Given the description of an element on the screen output the (x, y) to click on. 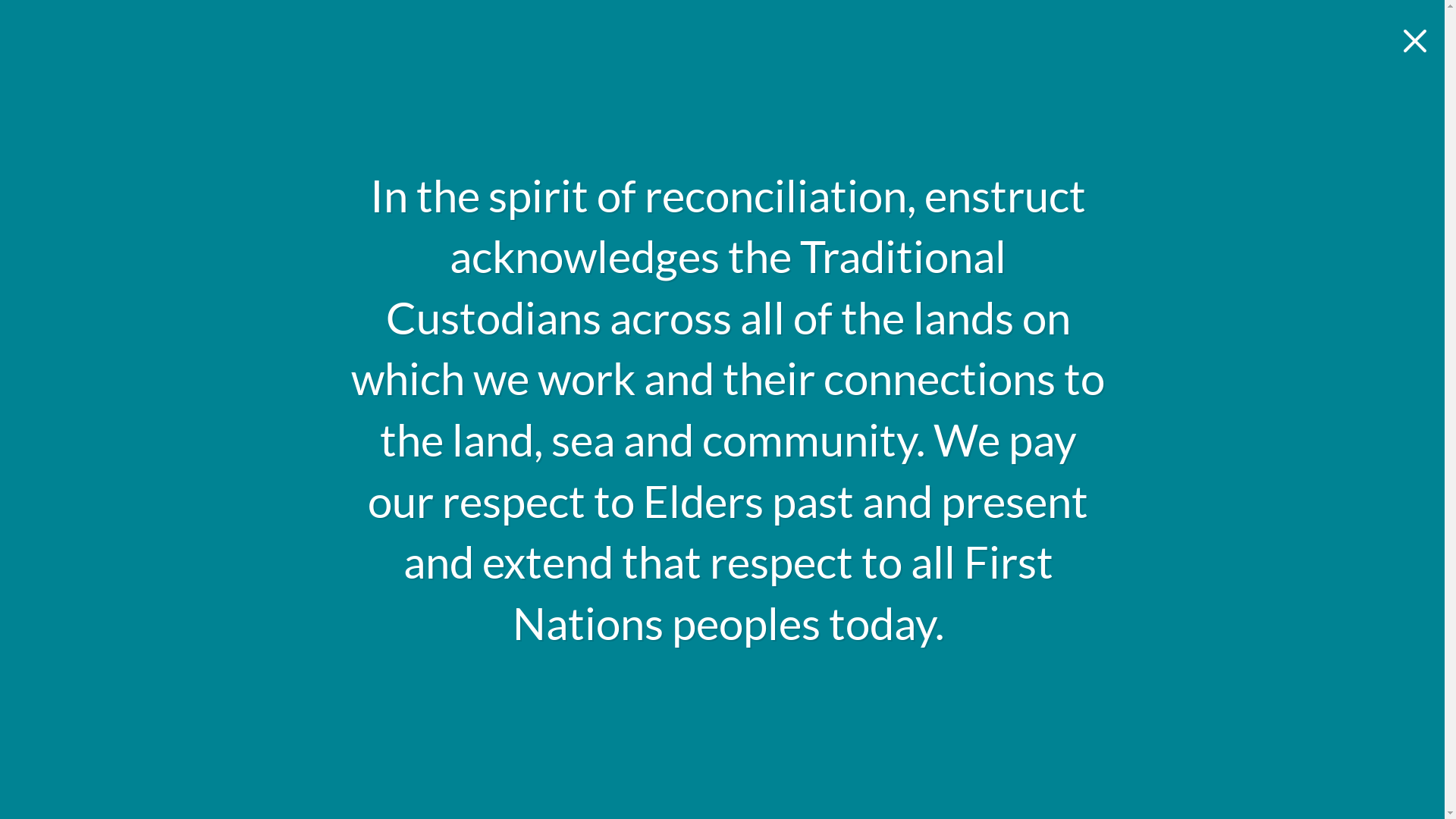
Australian Technology Park Element type: text (484, 154)
Projects Element type: text (619, 83)
Profile Element type: text (518, 83)
Careers Element type: text (907, 83)
People Element type: text (720, 83)
CommBank's New Home
20.01.2020 Element type: text (721, 574)
Home Element type: text (425, 83)
ATP B1 Topping-Out
26.02.2018 Element type: text (918, 574)
News Element type: text (812, 83)
Another Win for ATP
20.11.2020 Element type: text (524, 574)
Contact Element type: text (1011, 83)
